Given the description of an element on the screen output the (x, y) to click on. 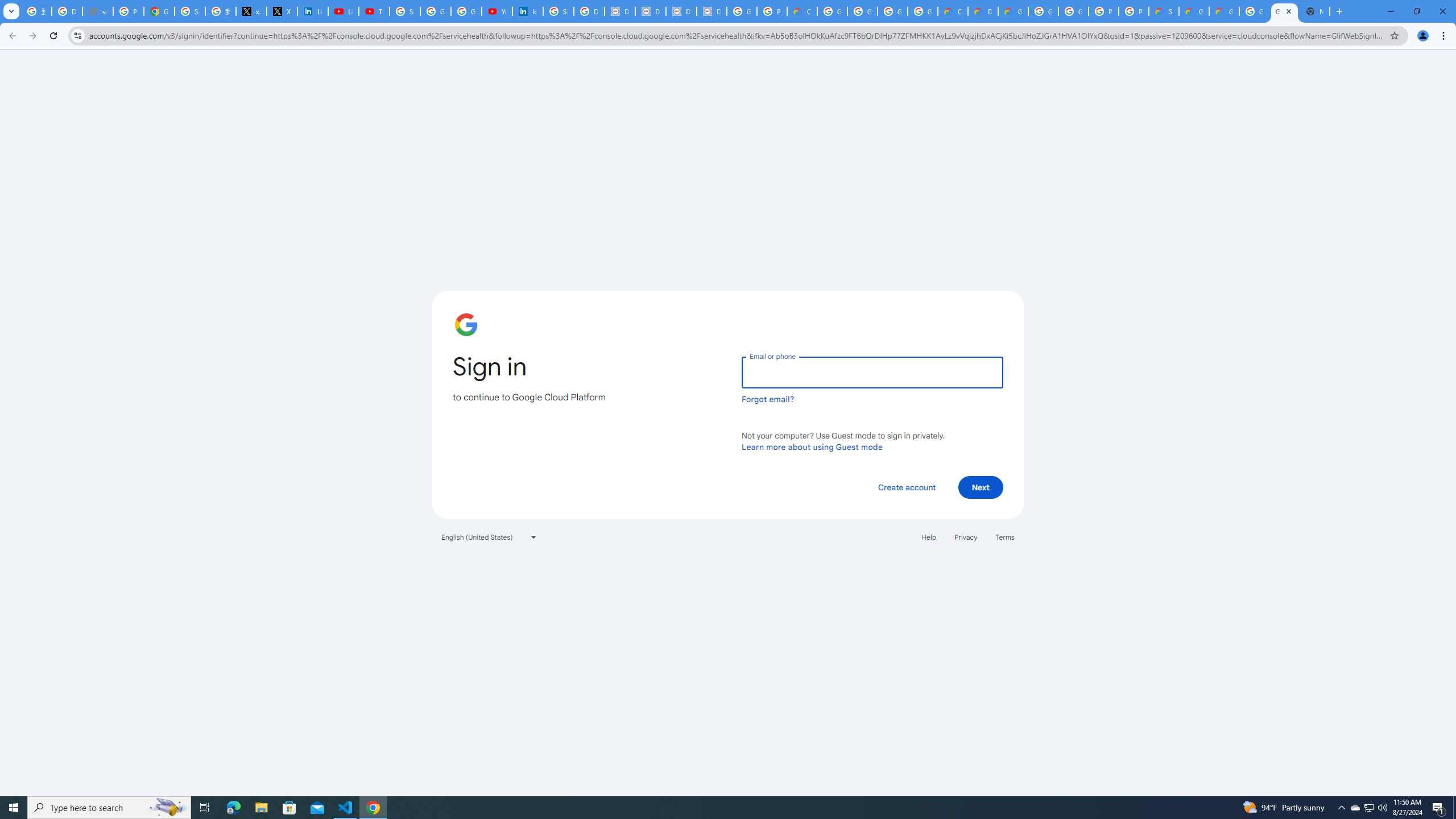
New Tab (1314, 11)
X (282, 11)
Google Cloud Platform (1283, 11)
Sign in - Google Accounts (558, 11)
Data Privacy Framework (619, 11)
